Given the description of an element on the screen output the (x, y) to click on. 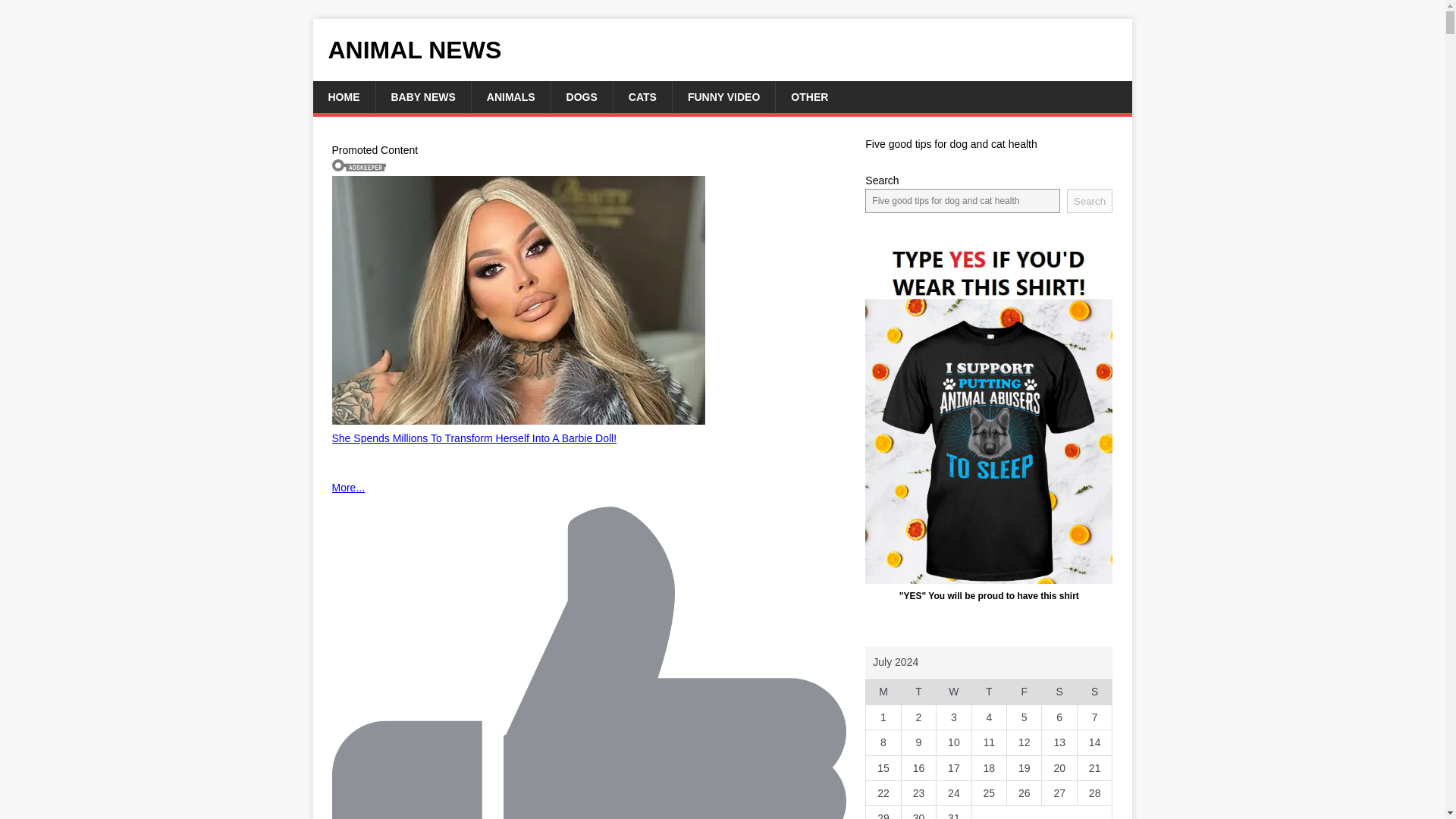
CATS (641, 97)
BABY NEWS (422, 97)
ANIMALS (510, 97)
ANIMAL NEWS (721, 49)
HOME (343, 97)
DOGS (581, 97)
ANIMAL NEWS (721, 49)
FUNNY VIDEO (722, 97)
OTHER (808, 97)
